Given the description of an element on the screen output the (x, y) to click on. 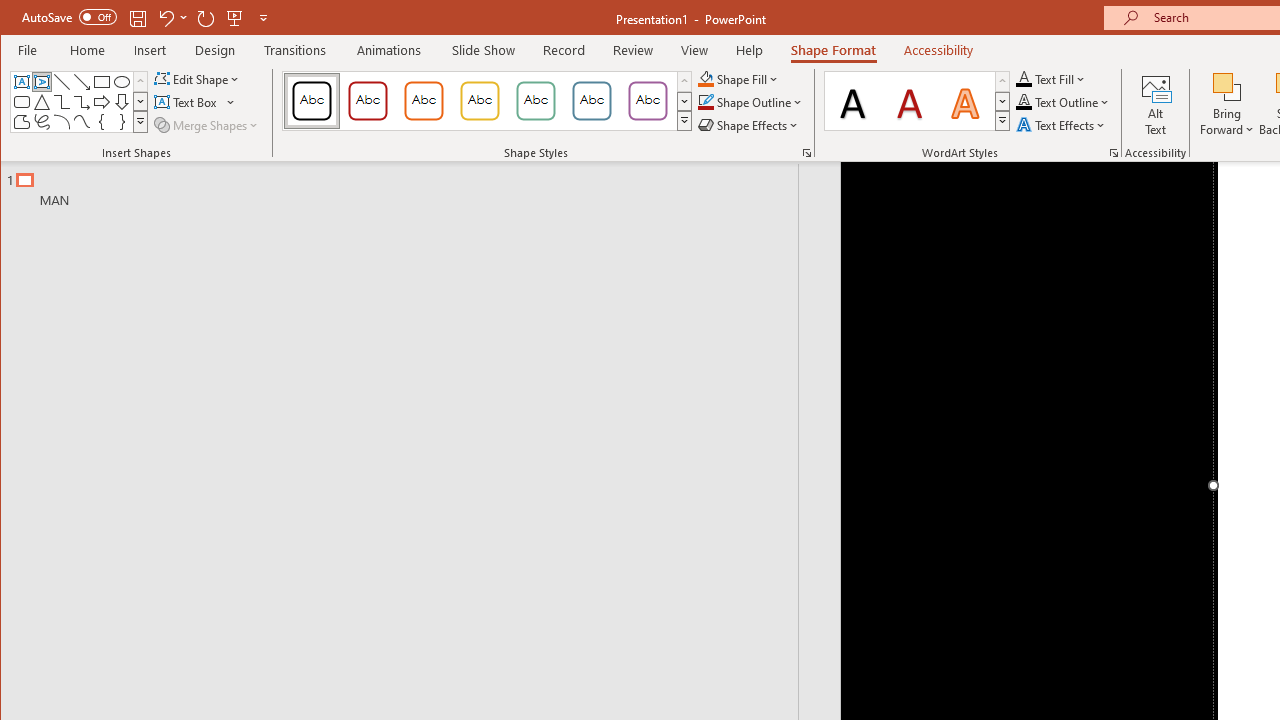
Text Fill RGB(0, 0, 0) (1023, 78)
Shape Effects (750, 124)
Format Text Effects... (1113, 152)
Text Effects (1062, 124)
Outline (408, 185)
Draw Horizontal Text Box (187, 101)
Text Outline (1062, 101)
